Given the description of an element on the screen output the (x, y) to click on. 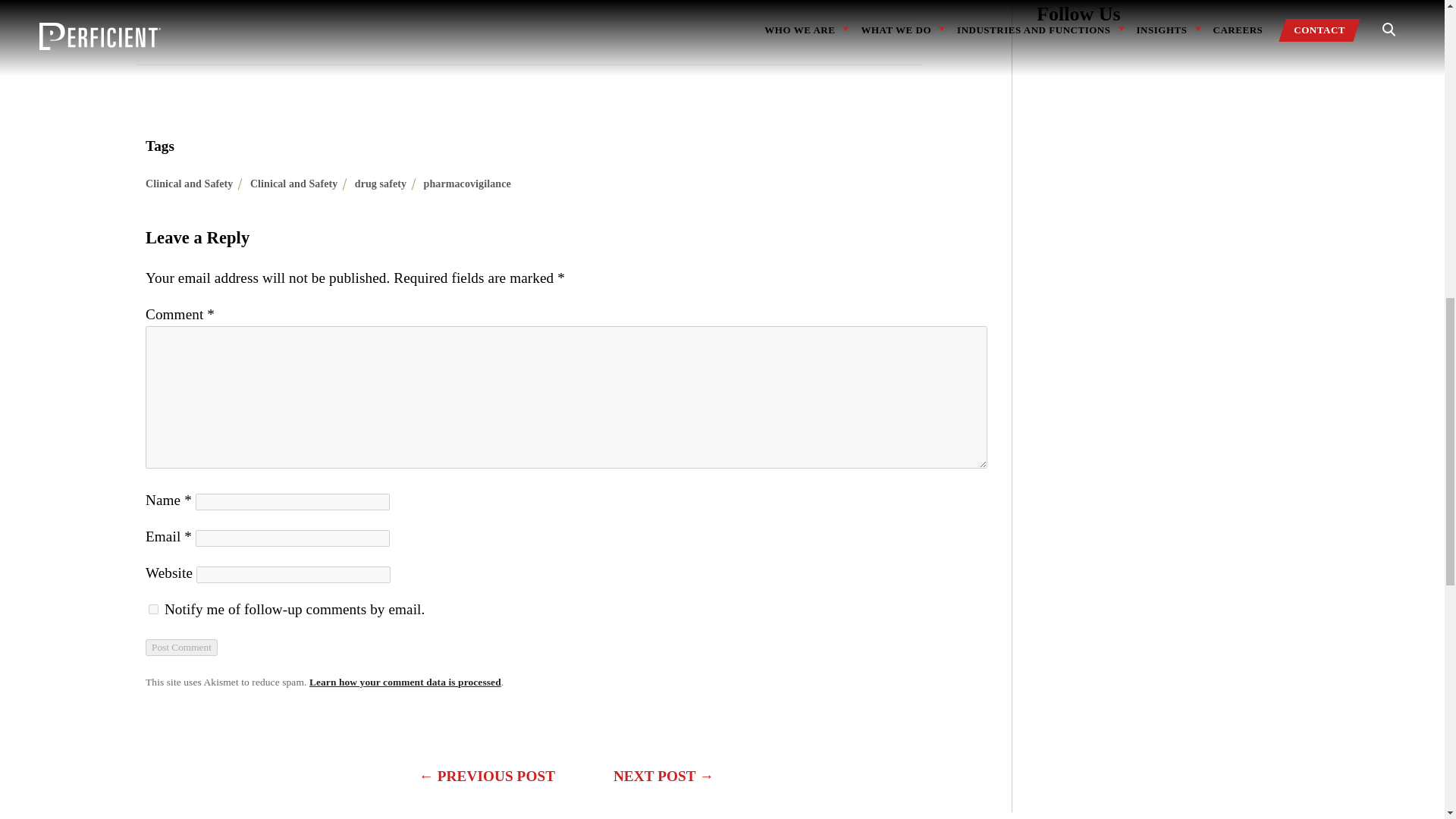
Post Comment (180, 647)
pharmacovigilance (467, 184)
Clinical and Safety (188, 184)
Post Comment (180, 647)
subscribe (153, 609)
drug safety (380, 184)
Learn how your comment data is processed (404, 681)
Clinical and Safety (293, 184)
